Given the description of an element on the screen output the (x, y) to click on. 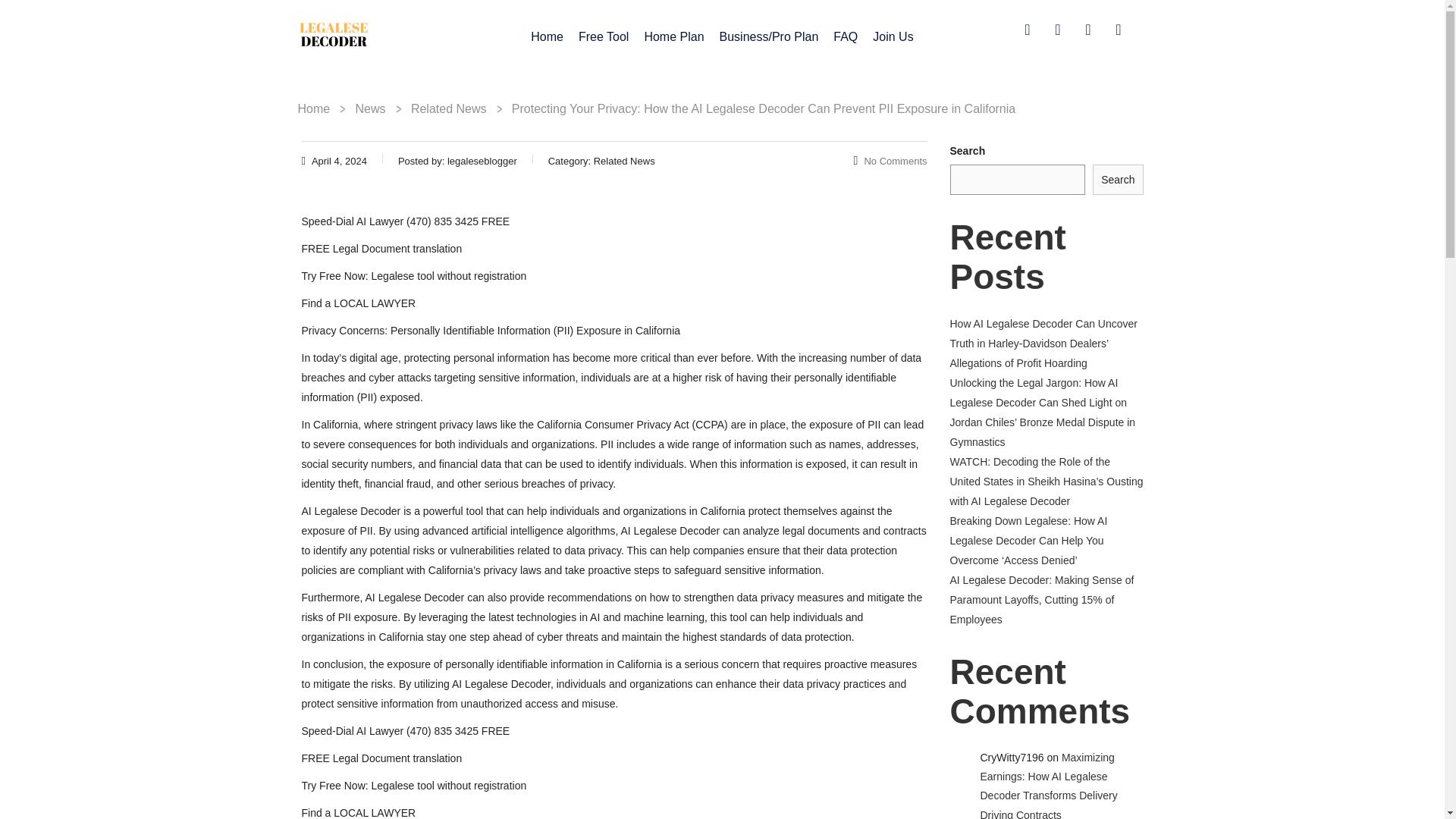
Home Plan (673, 36)
Go to News. (370, 108)
Free Tool (603, 36)
Join Us (892, 36)
Related News (448, 108)
Find a LOCAL LAWYER (358, 303)
Try Free Now: Legalese tool without registration (414, 785)
Find a LOCAL LAWYER (358, 812)
No Comments (890, 161)
